Given the description of an element on the screen output the (x, y) to click on. 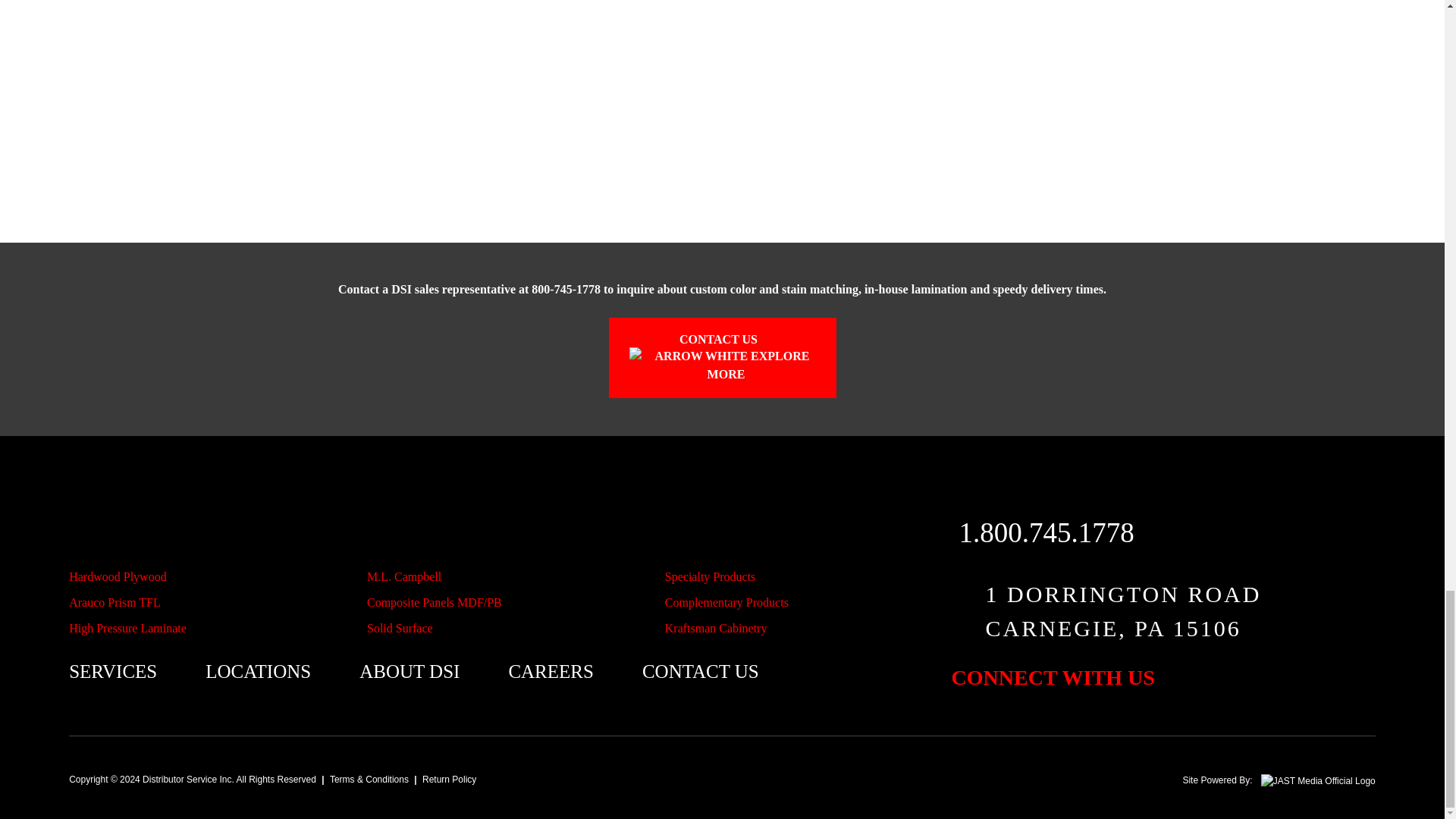
Complementary Products (727, 602)
Hardwood Plywood (116, 577)
CAREERS (551, 671)
Specialty Products (710, 577)
M.L. Campbell (403, 577)
Solid Surface (399, 628)
Kraftsman Cabinetry (716, 628)
High Pressure Laminate (127, 628)
ABOUT DSI (409, 671)
SERVICES (112, 671)
